Given the description of an element on the screen output the (x, y) to click on. 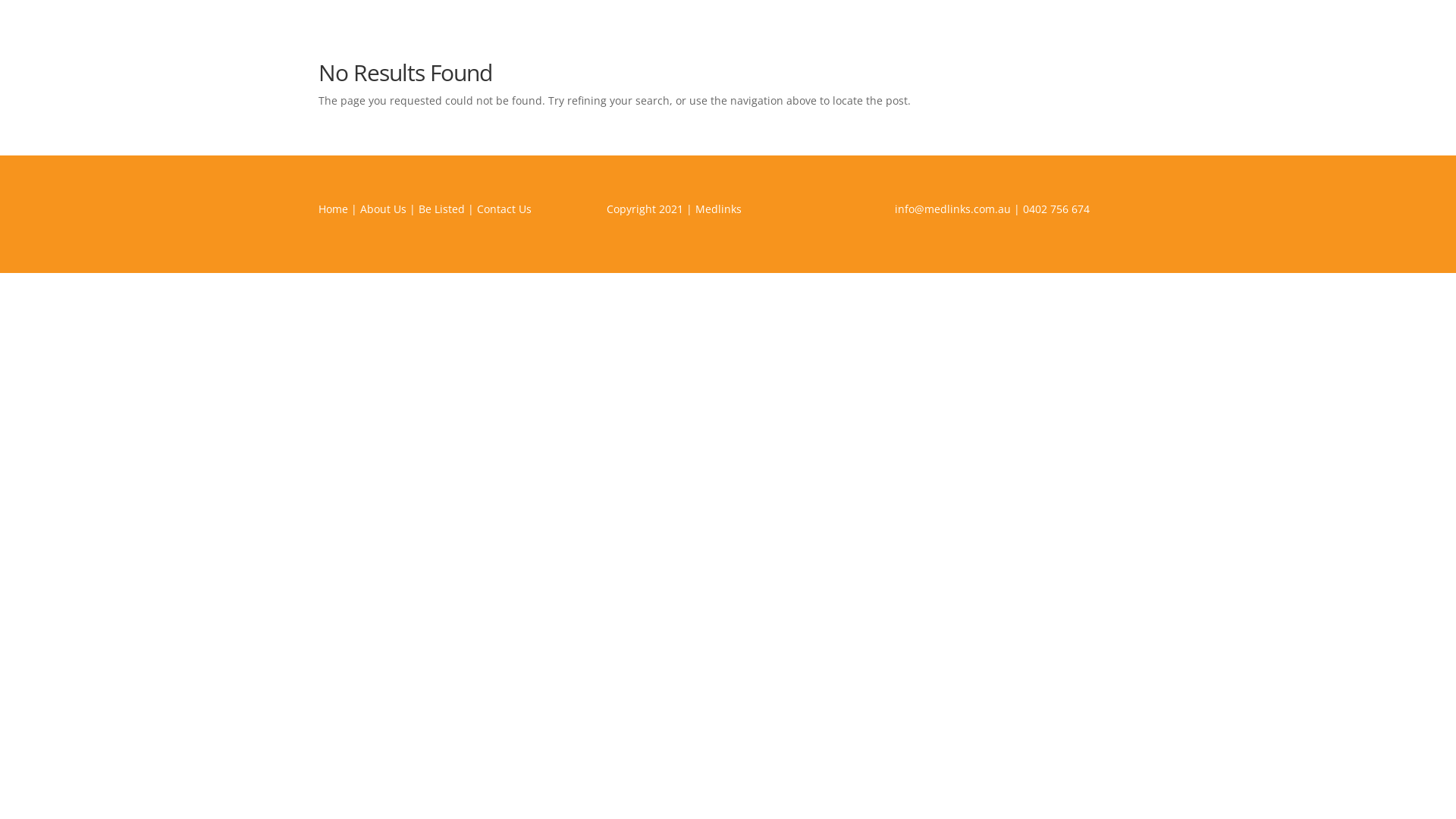
info@medlinks.com.au Element type: text (952, 208)
Contact Us Element type: text (503, 208)
Home Element type: text (333, 208)
Be Listed Element type: text (441, 208)
About Us Element type: text (383, 208)
